Given the description of an element on the screen output the (x, y) to click on. 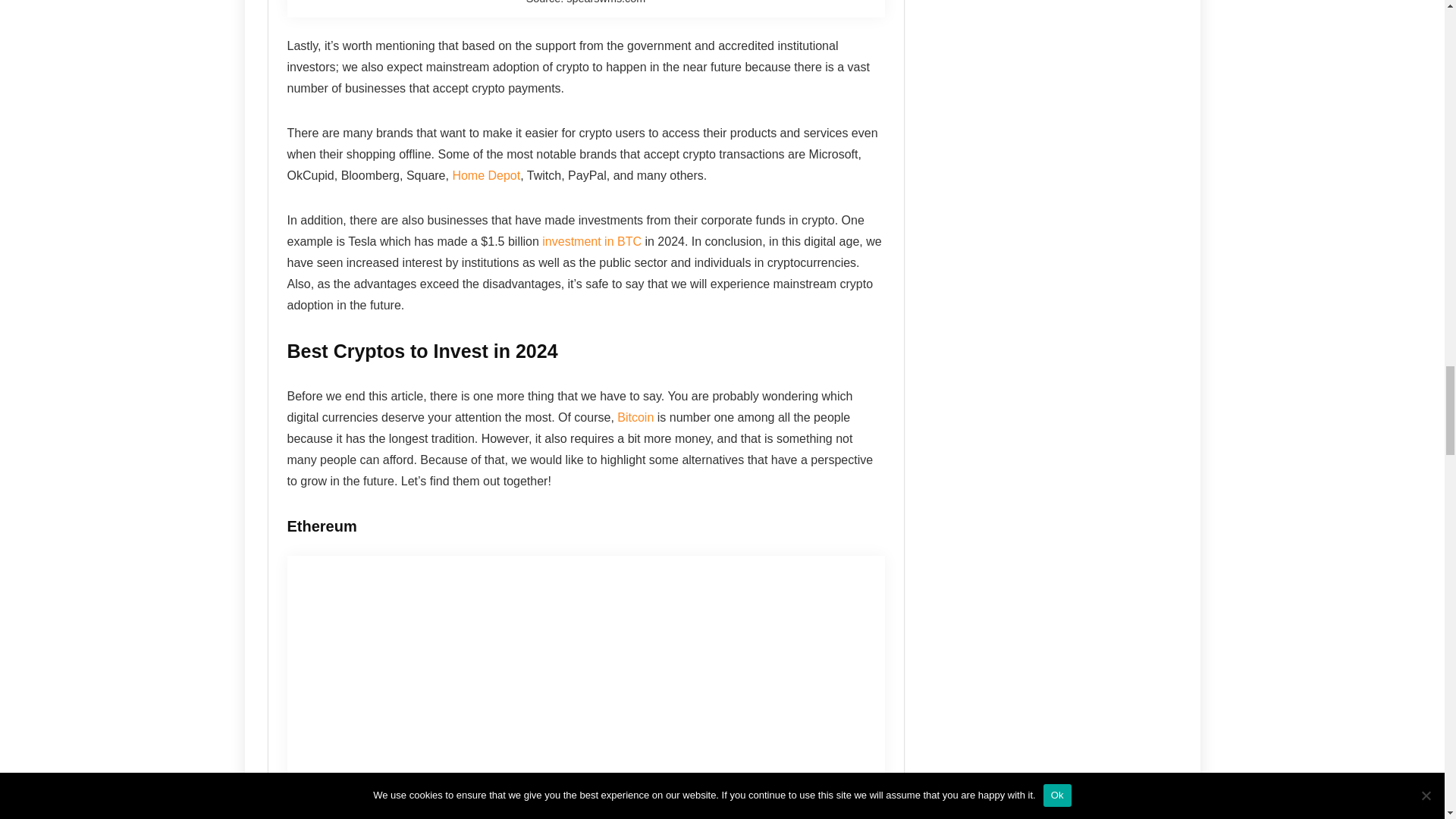
investment in BTC (591, 241)
Bitcoin (635, 417)
Home Depot (485, 174)
